Given the description of an element on the screen output the (x, y) to click on. 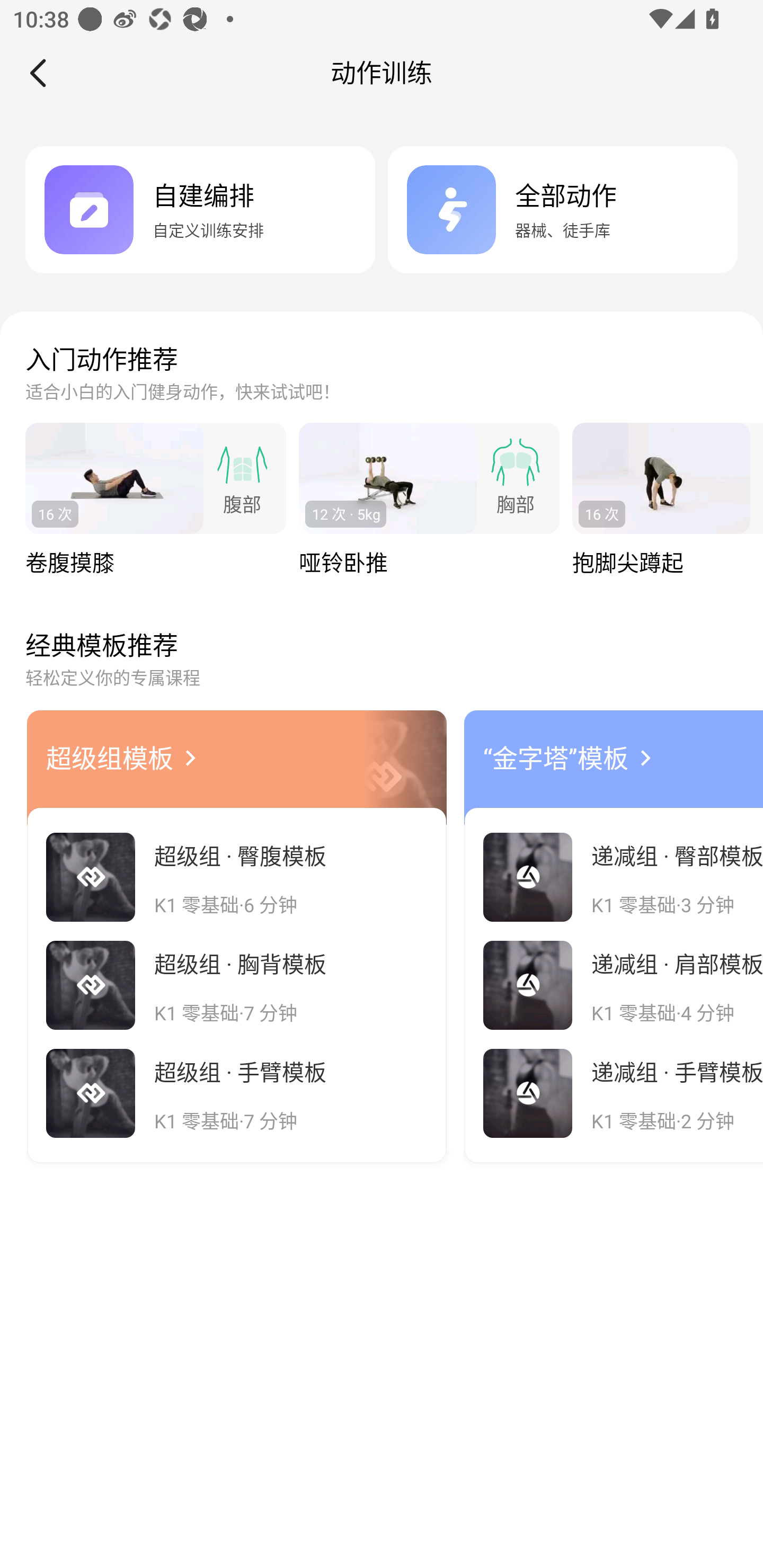
自建编排 自定义训练安排 (200, 208)
全部动作 器械、徒手库 (562, 208)
16 次 腹部 卷腹摸膝 (155, 500)
12 次 · 5kg 胸部 哑铃卧推 (429, 500)
16 次 抱脚尖蹲起 (667, 500)
超级组模板 (109, 757)
“金字塔”模板 (555, 757)
超级组 · 臀腹模板 K1 零基础·6 分钟 (236, 876)
递减组 · 臀部模板 K1 零基础·3 分钟 (613, 876)
超级组 · 胸背模板 K1 零基础·7 分钟 (236, 985)
递减组 · 肩部模板 K1 零基础·4 分钟 (613, 985)
超级组 · 手臂模板 K1 零基础·7 分钟 (236, 1093)
递减组 · 手臂模板 K1 零基础·2 分钟 (613, 1093)
